Given the description of an element on the screen output the (x, y) to click on. 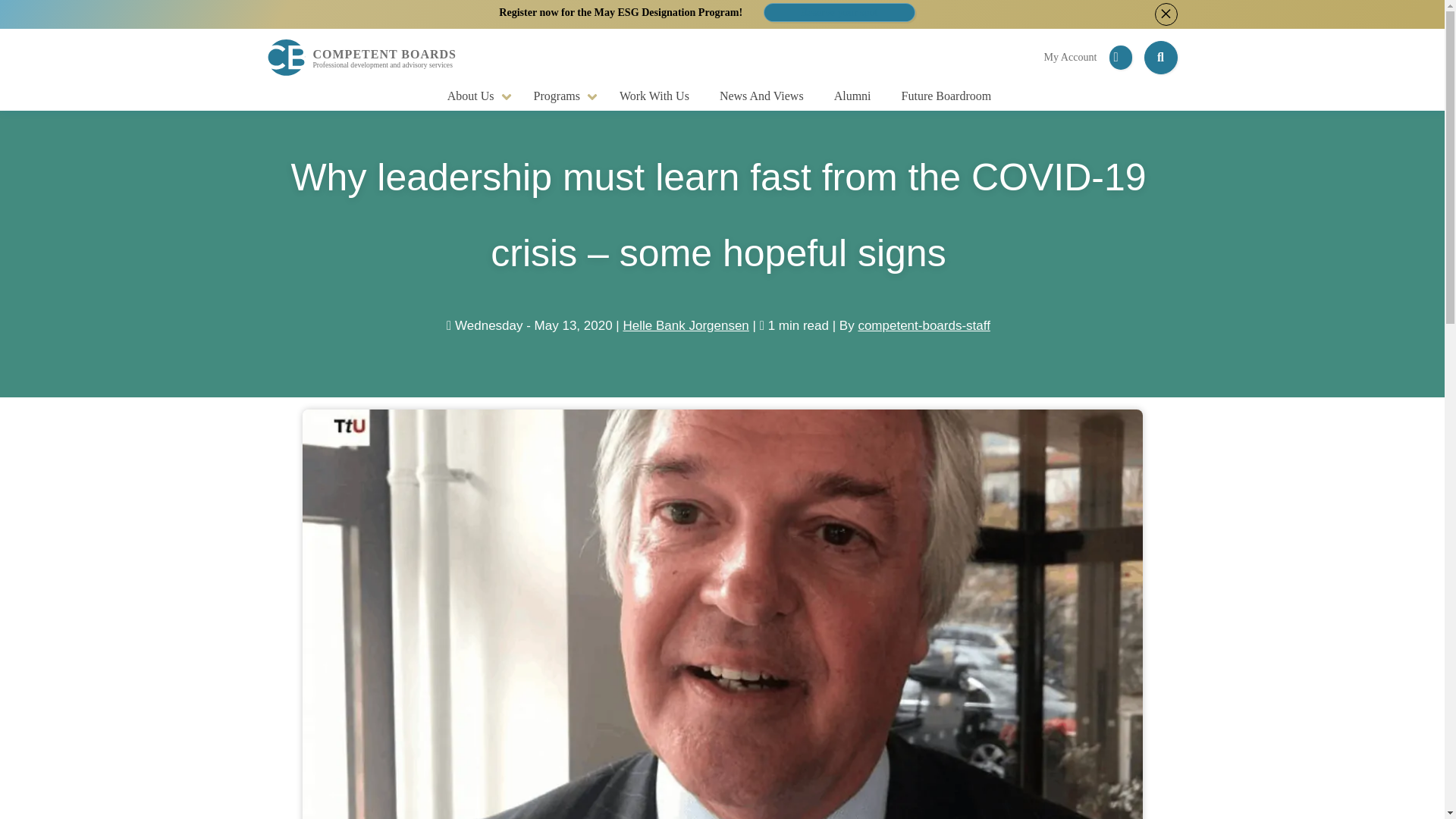
About Us (477, 96)
My Account (1069, 57)
Alumni (855, 96)
Search (16, 13)
Reserve your spot (838, 12)
competent-boards-staff (923, 325)
Work With Us (657, 96)
Programs (564, 96)
Helle Bank Jorgensen (686, 325)
